Given the description of an element on the screen output the (x, y) to click on. 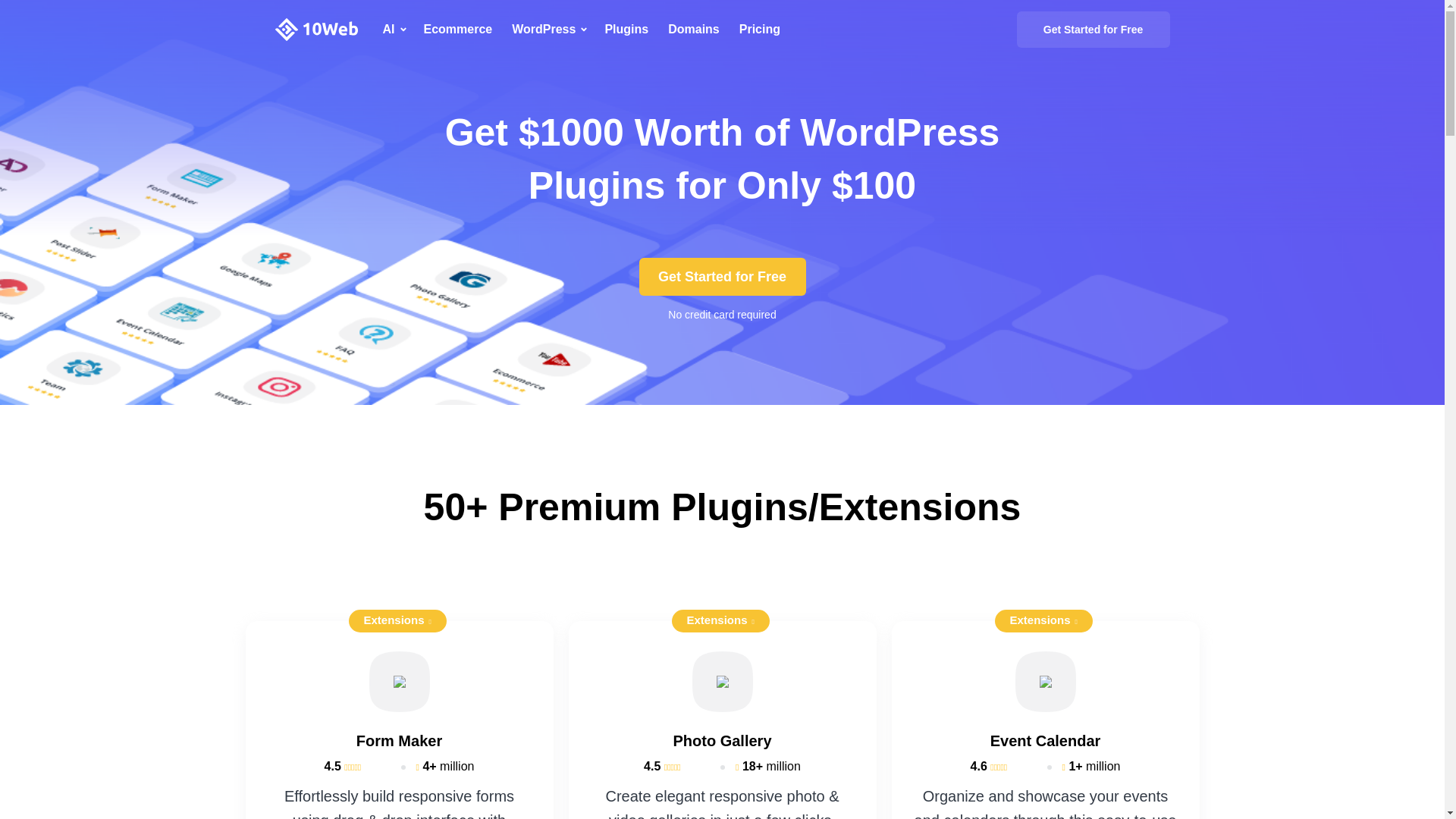
4.6 out of 5 stars (998, 766)
Plugins (636, 29)
Ecommerce (467, 29)
4.5 out of 5 stars (672, 766)
4.5 out of 5 stars (352, 766)
Pricing (769, 29)
Domains (703, 29)
WordPress (558, 29)
AI (402, 29)
